Given the description of an element on the screen output the (x, y) to click on. 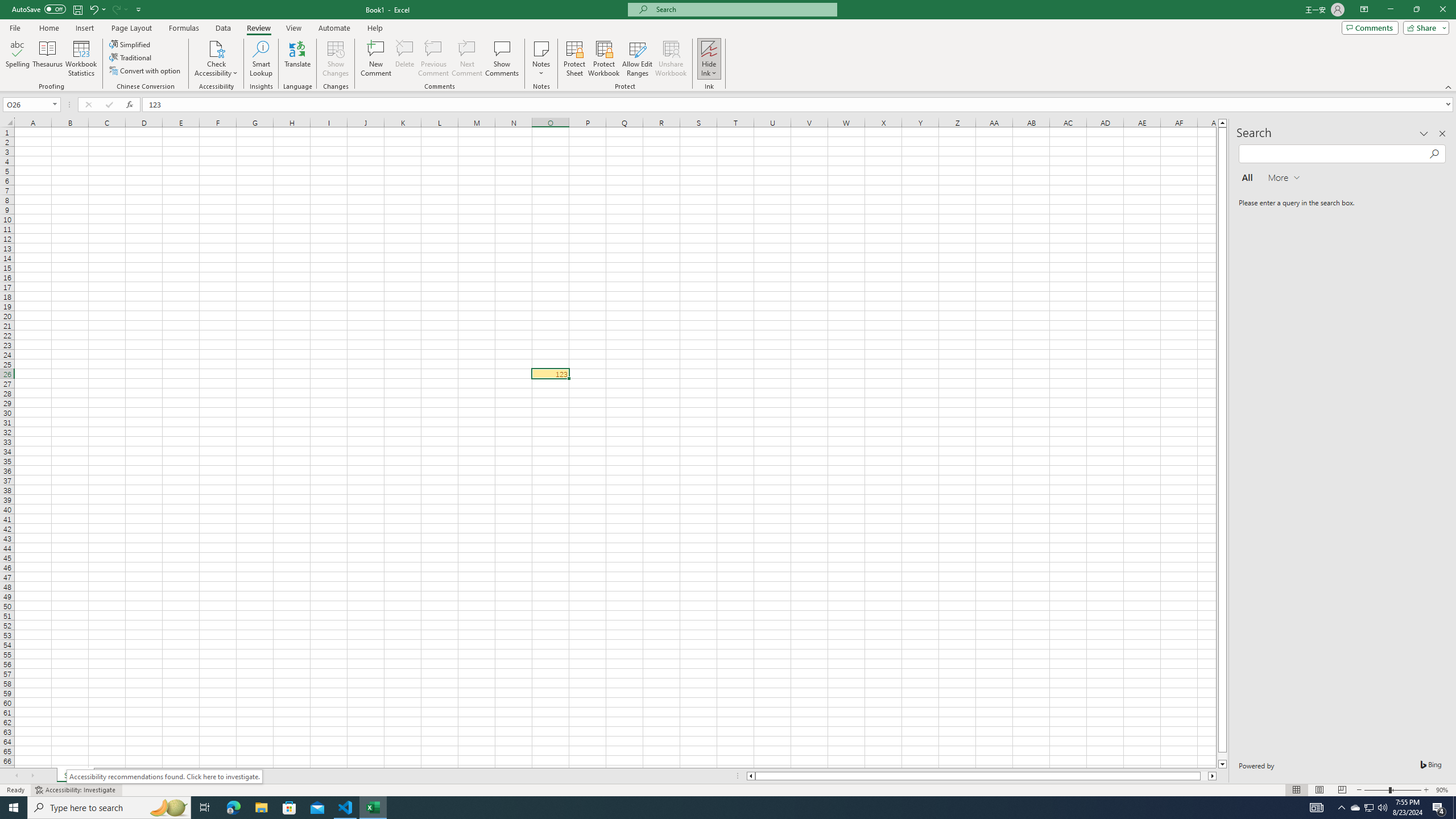
Thesaurus... (47, 58)
Protect Workbook... (603, 58)
